Given the description of an element on the screen output the (x, y) to click on. 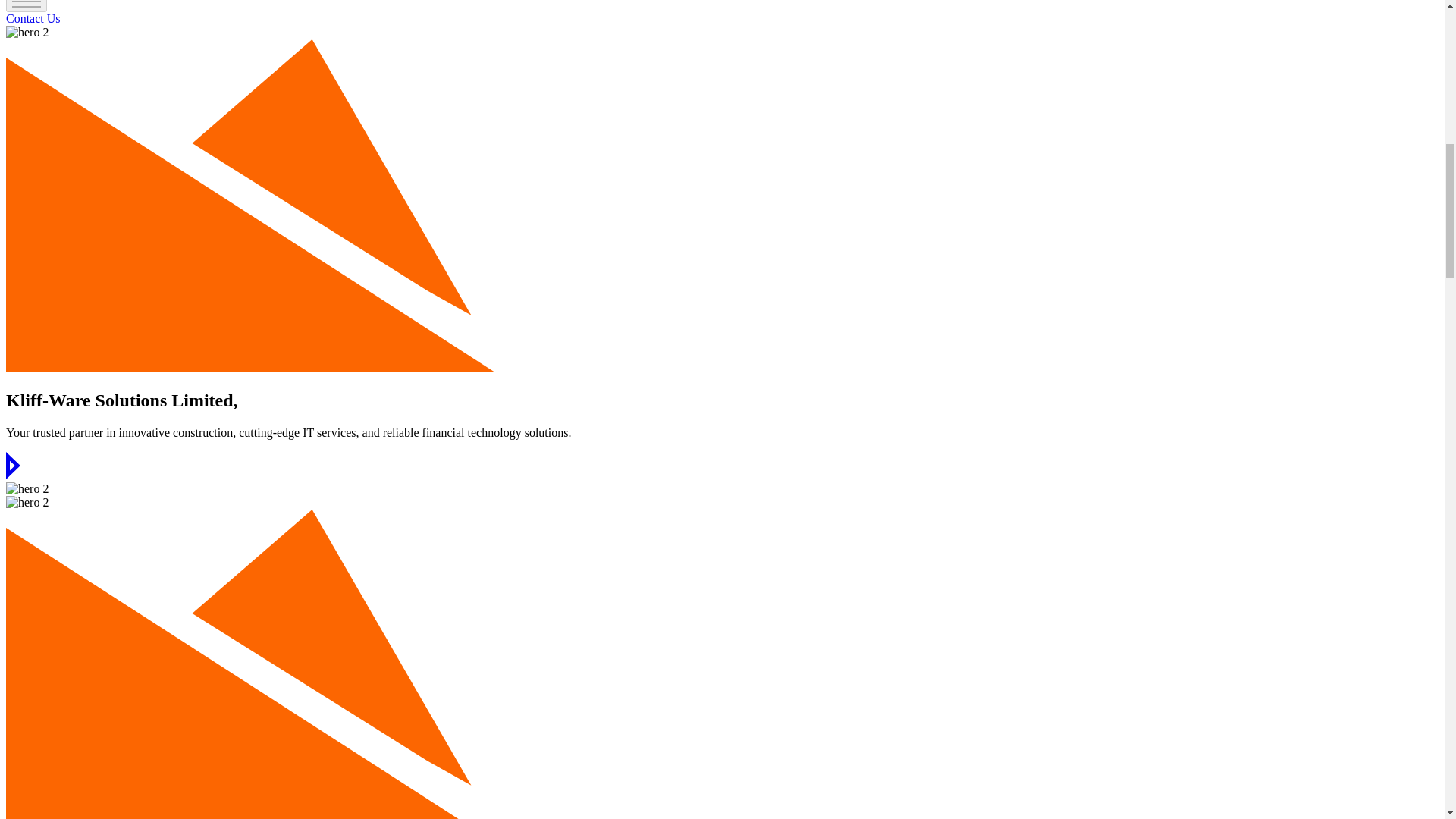
Contact Us (33, 18)
